Given the description of an element on the screen output the (x, y) to click on. 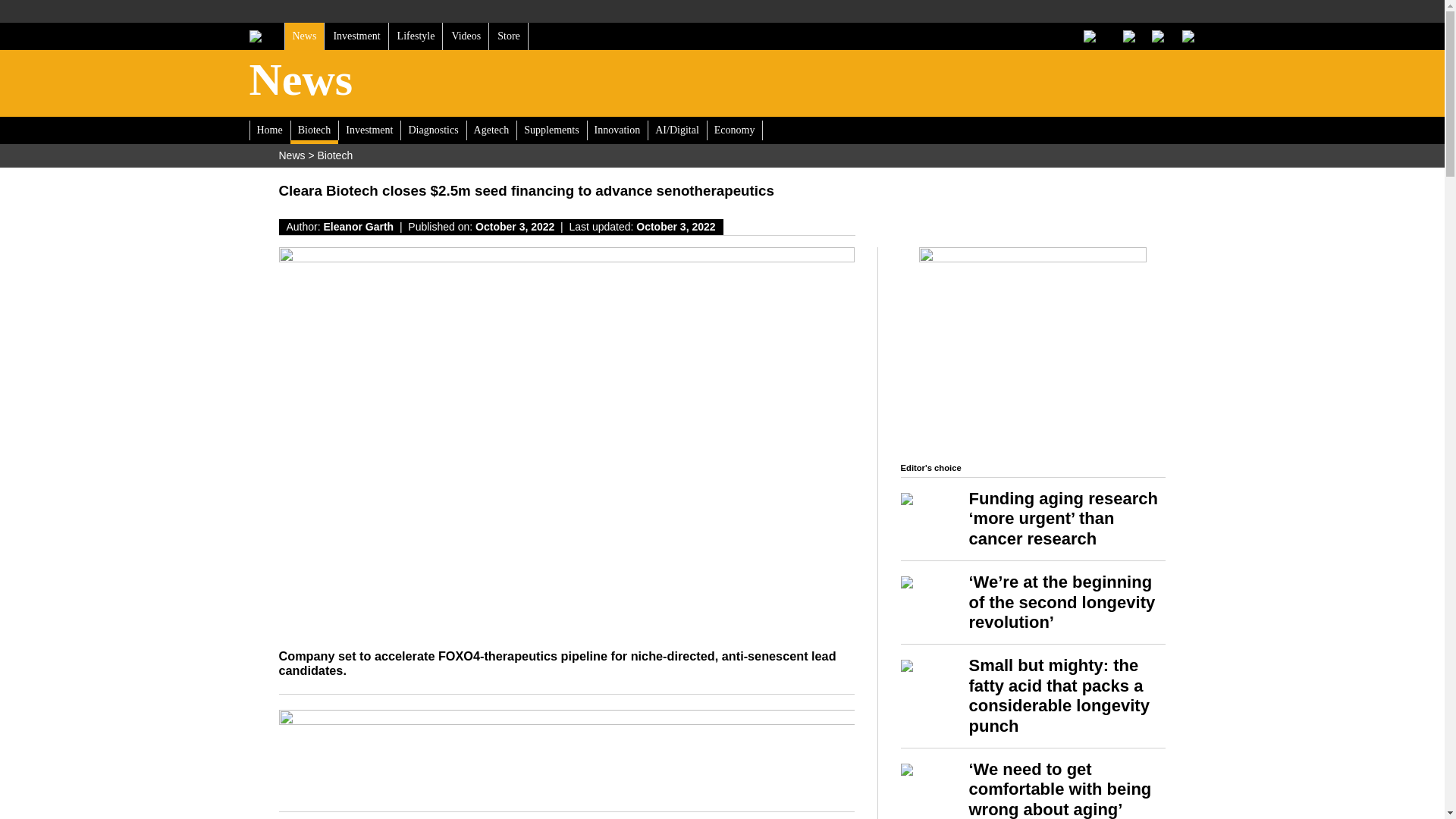
Posts by Eleanor Garth (358, 225)
Investment (356, 35)
News (303, 35)
Store (508, 35)
Lifestyle (416, 35)
Videos (465, 35)
